Given the description of an element on the screen output the (x, y) to click on. 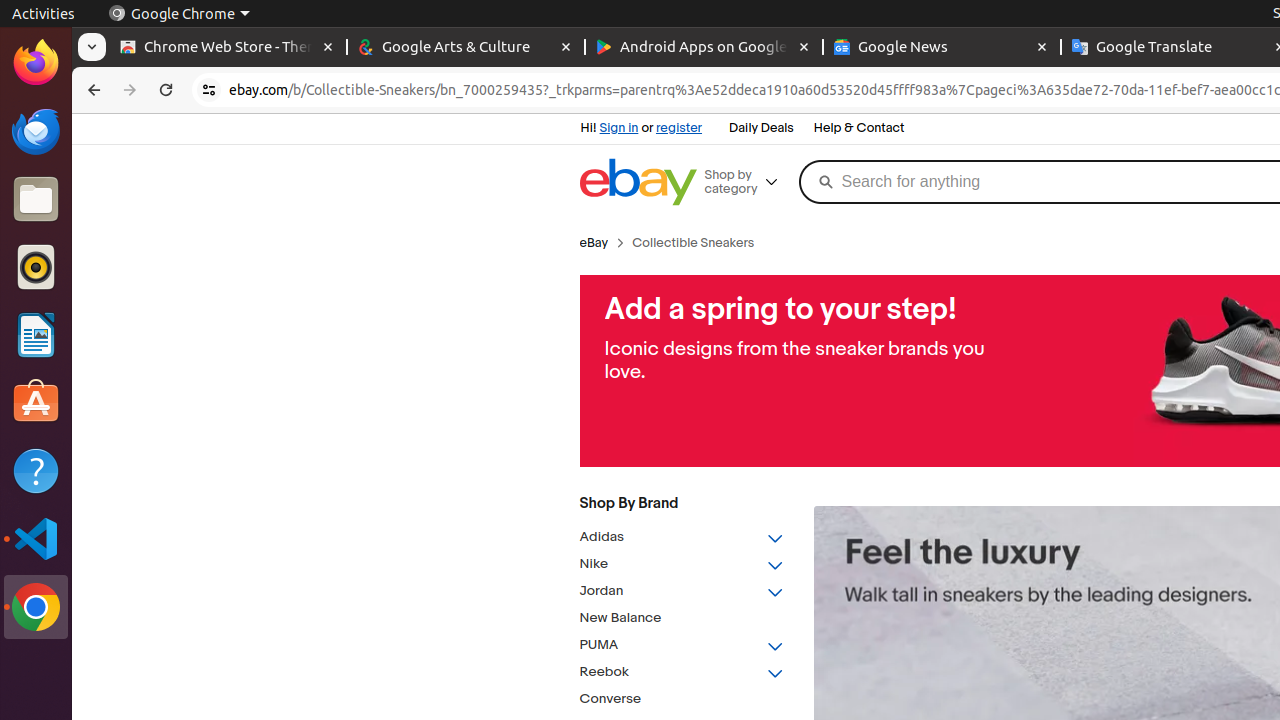
Google Chrome Element type: menu (179, 13)
Back Element type: push-button (91, 90)
Reload Element type: push-button (166, 90)
Converse Element type: link (682, 699)
Google News - Memory usage - 49.7 MB Element type: page-tab (942, 47)
